Given the description of an element on the screen output the (x, y) to click on. 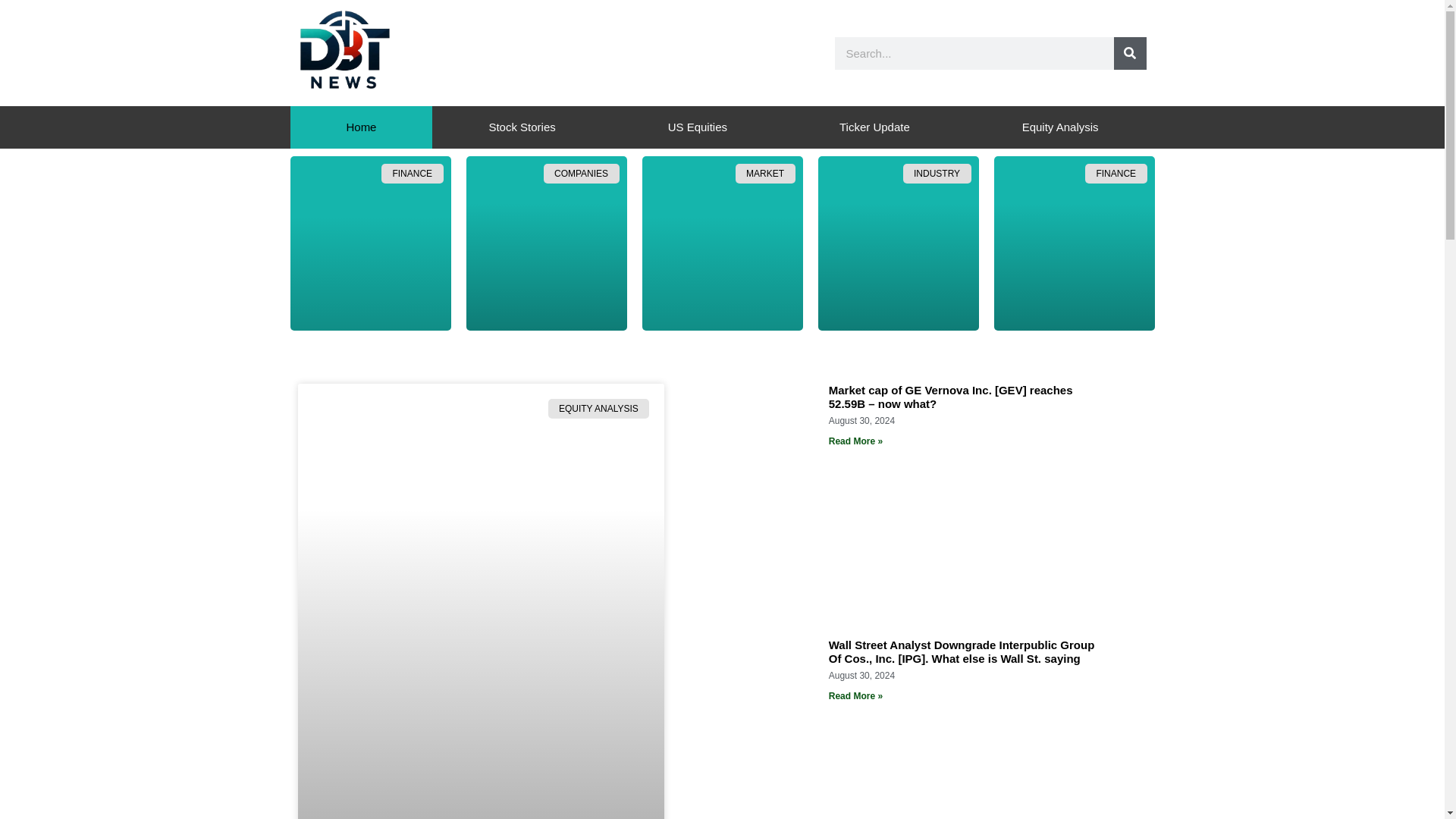
Ticker Update (874, 127)
Equity Analysis (1060, 127)
Home (360, 127)
Stock Stories (521, 127)
US Equities (697, 127)
